Given the description of an element on the screen output the (x, y) to click on. 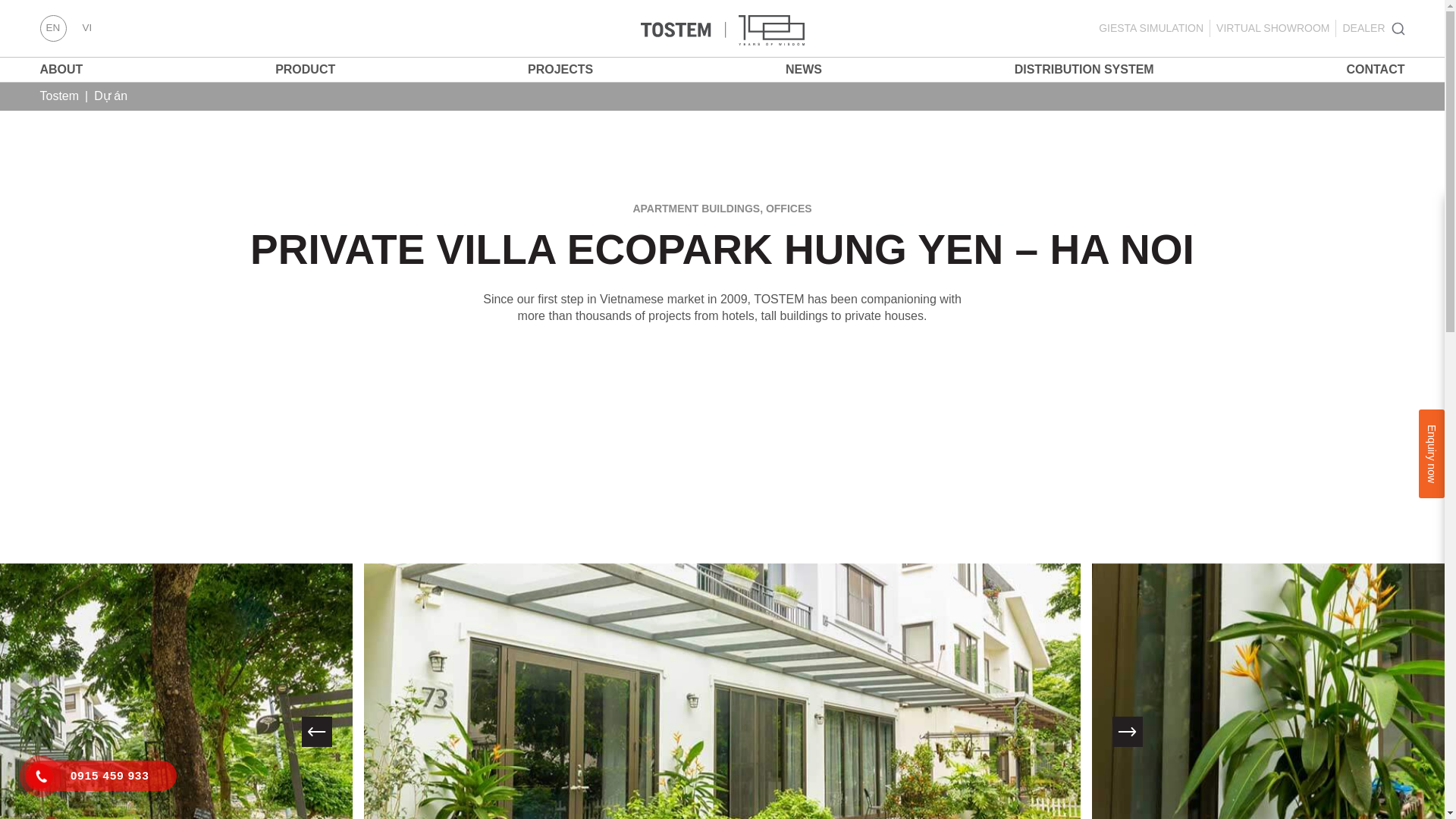
GIESTA SIMULATION (1151, 28)
Tostem (721, 30)
VI (87, 28)
EN (52, 28)
PROJECTS (559, 69)
ABOUT (60, 69)
DISTRIBUTION SYSTEM (1084, 69)
Tostem (58, 95)
DEALER (1363, 28)
VIRTUAL SHOWROOM (1272, 28)
PRODUCT (304, 69)
Tostem (721, 28)
NEWS (804, 69)
CONTACT (1375, 69)
